Given the description of an element on the screen output the (x, y) to click on. 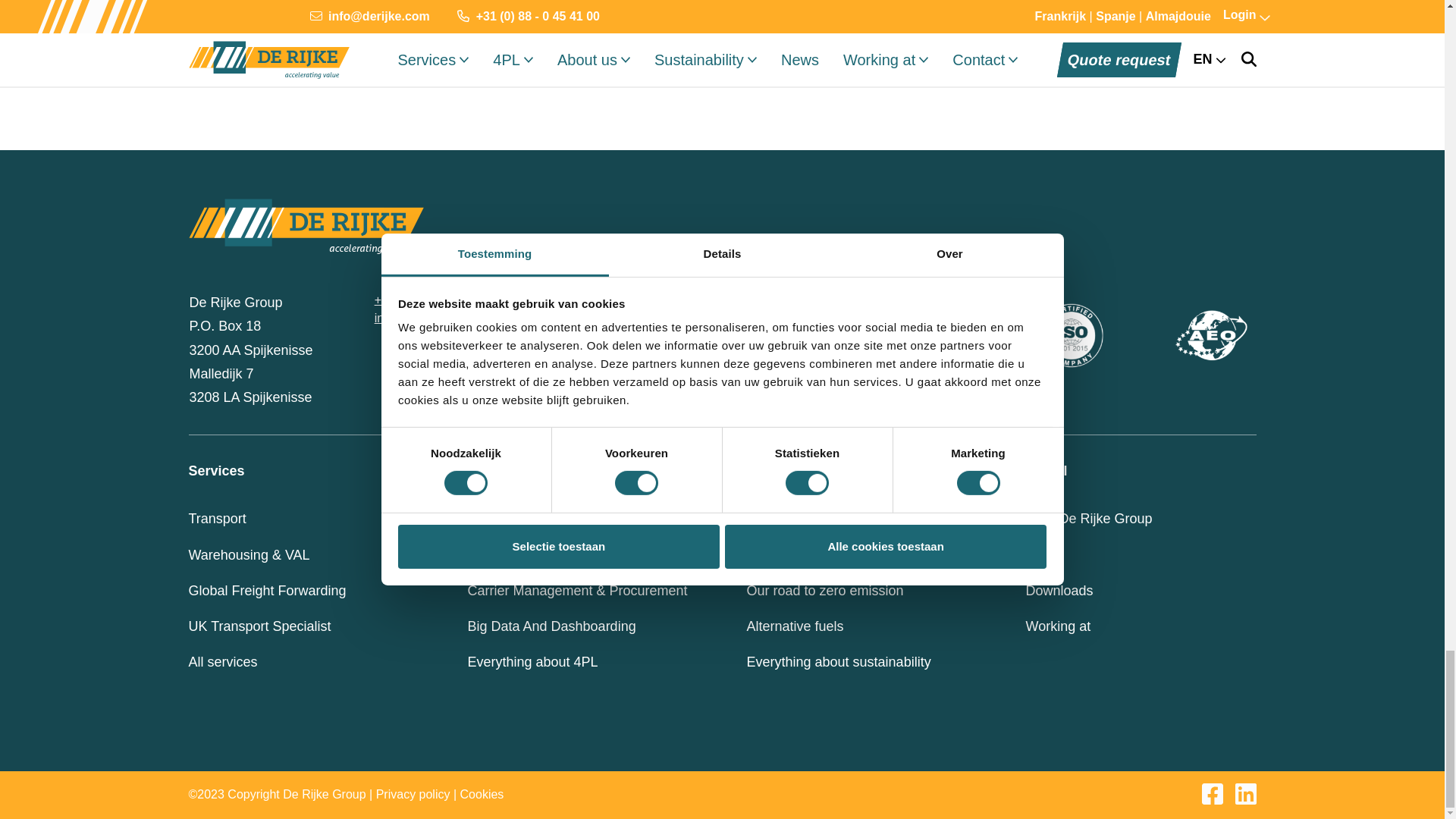
Request a quotation (662, 39)
